Given the description of an element on the screen output the (x, y) to click on. 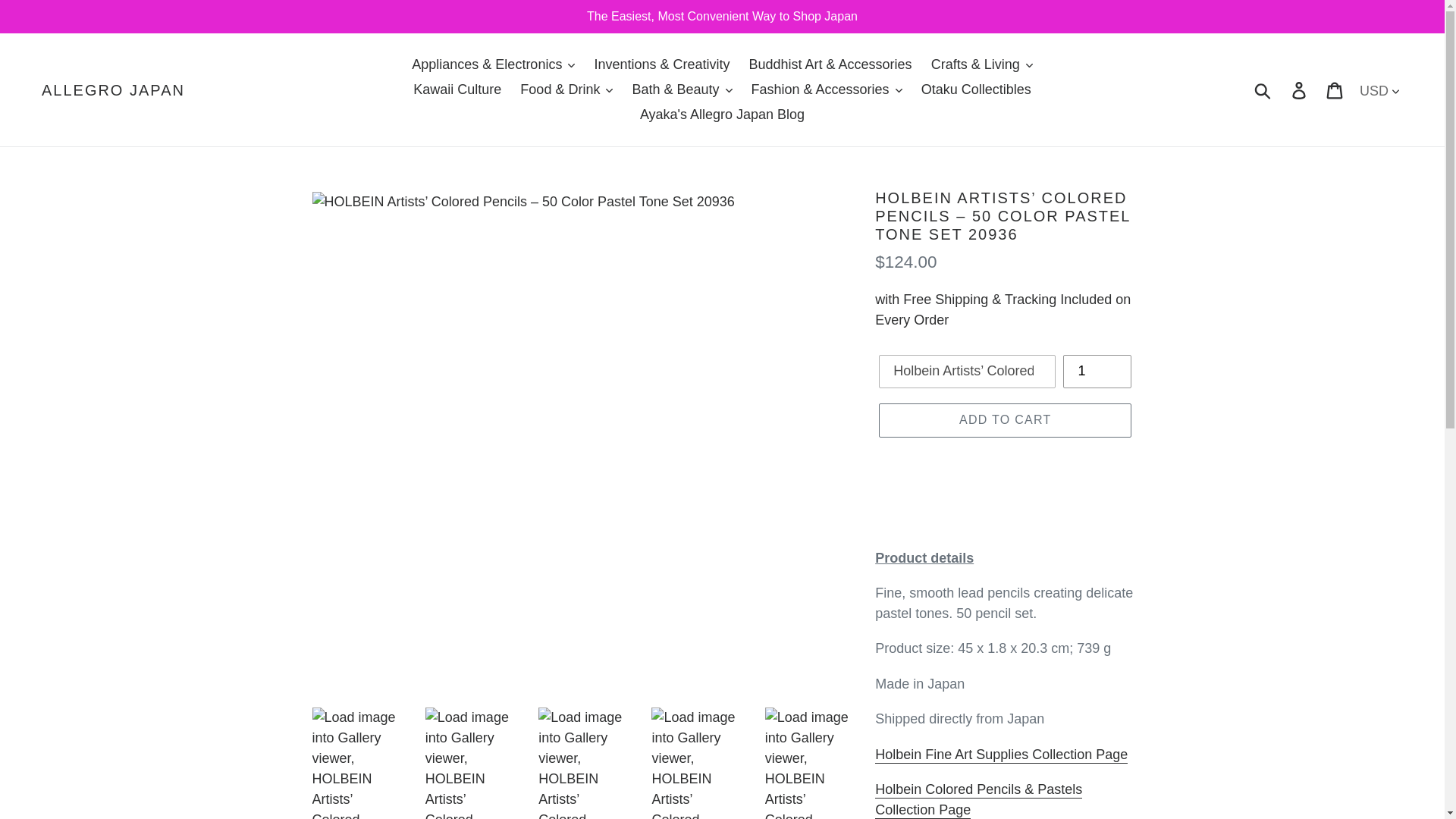
Kawaii Culture (457, 89)
1 (1096, 371)
ALLEGRO JAPAN (113, 89)
